Given the description of an element on the screen output the (x, y) to click on. 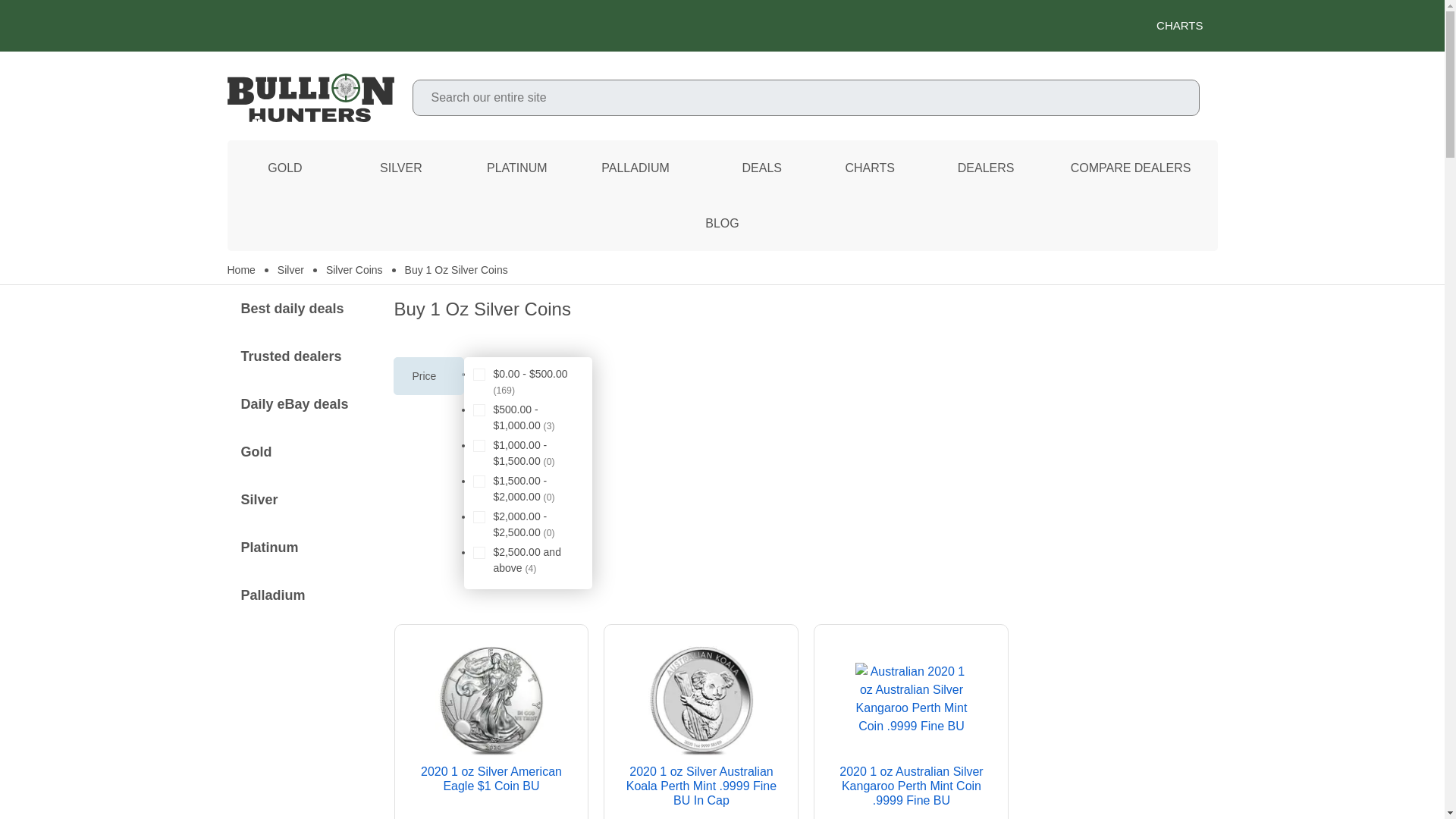
GOLD (285, 167)
1500.00-2000.00 (478, 481)
2000.00-2500.00 (478, 517)
Gold (285, 167)
500.00-1000.00 (478, 410)
2500.00 and above (478, 552)
CHARTS (1186, 25)
0.00-500.00 (478, 374)
CHARTS (722, 25)
1000.00-1500.00 (478, 445)
